Given the description of an element on the screen output the (x, y) to click on. 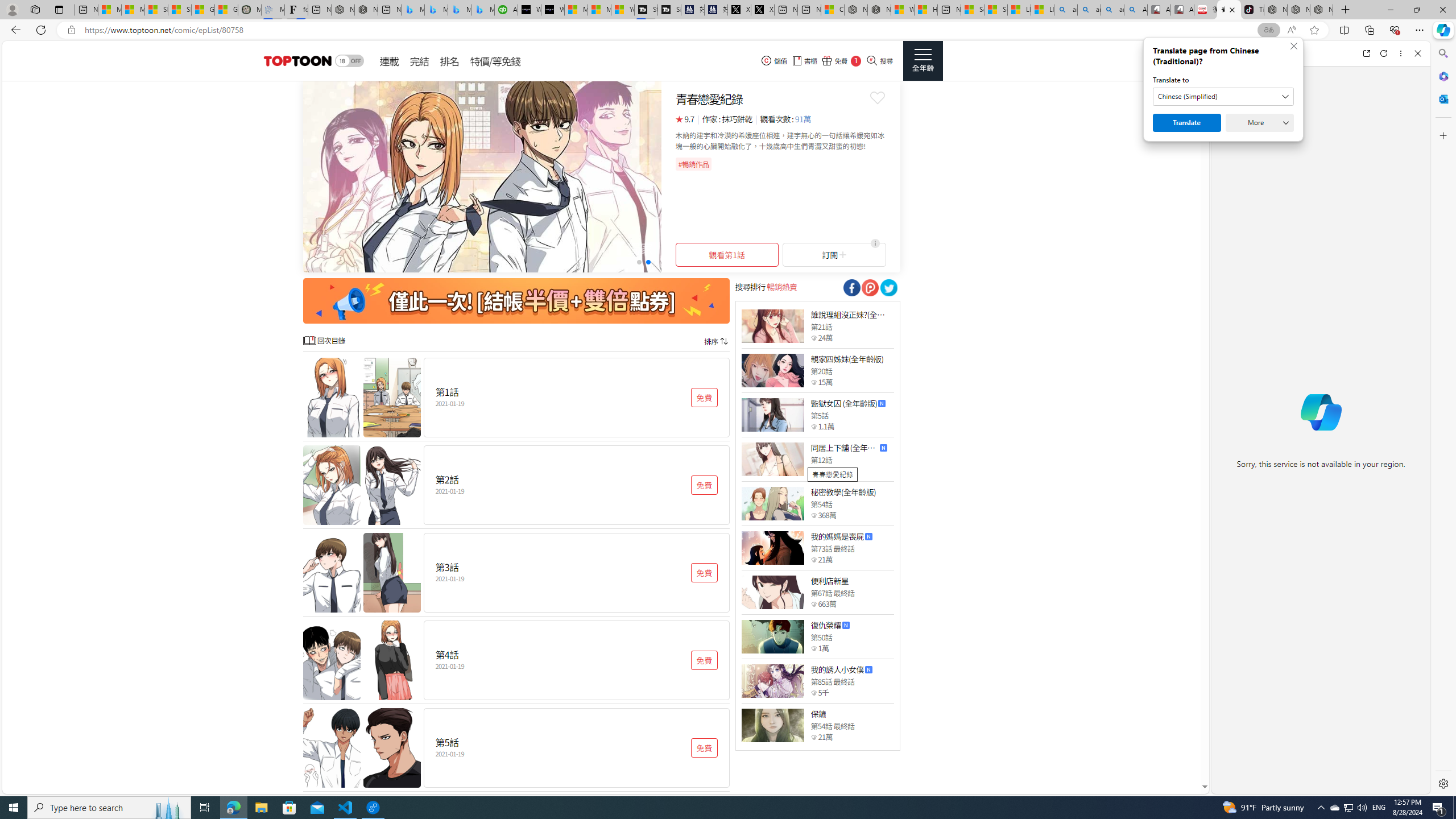
Class: thumb_img (772, 725)
amazon - Search Images (1112, 9)
Class: epicon_starpoint (813, 736)
